Given the description of an element on the screen output the (x, y) to click on. 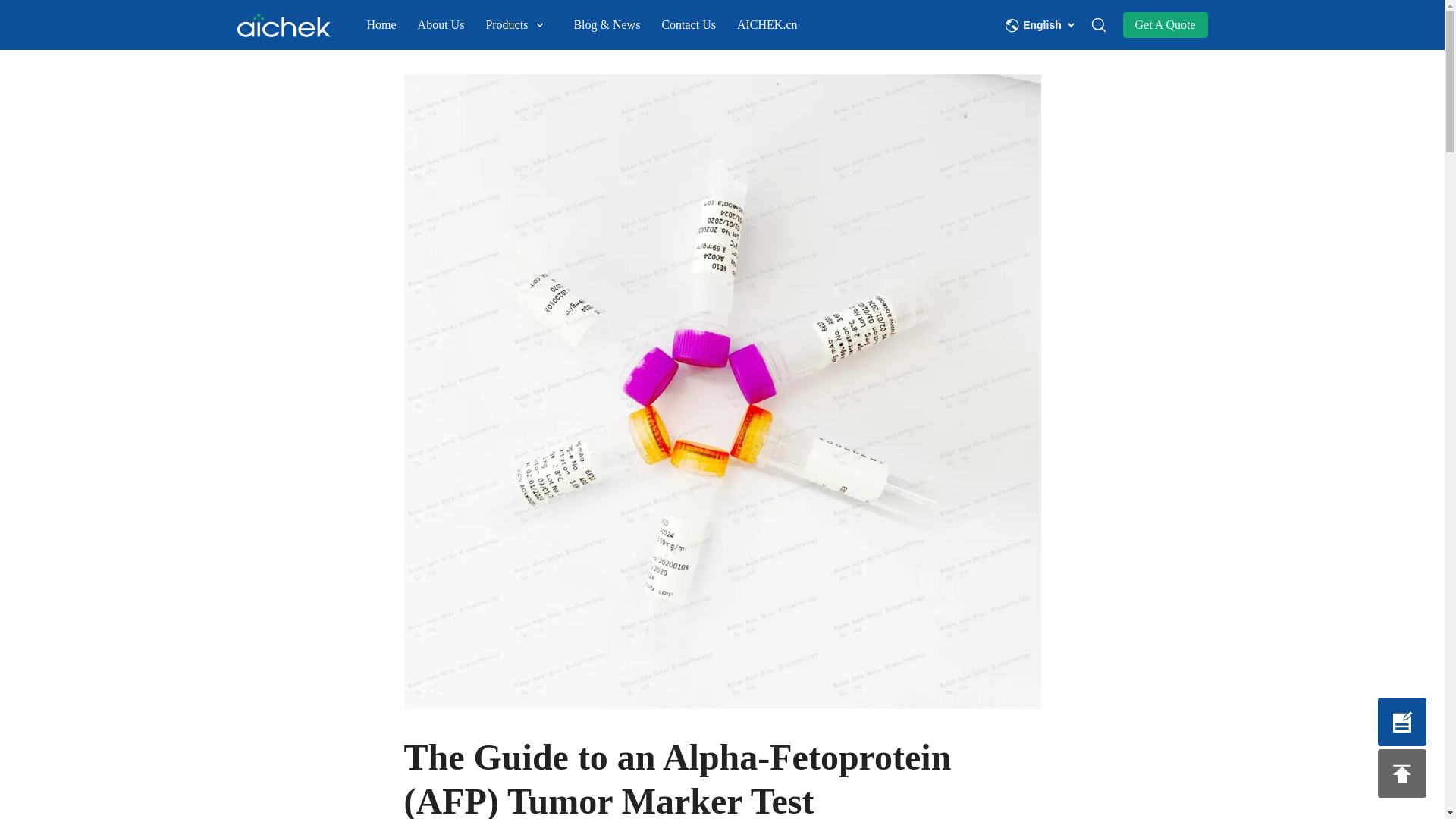
AICHEK.cn (766, 26)
Products (528, 26)
About Us (451, 26)
Home (391, 26)
Contact Us (698, 26)
